Given the description of an element on the screen output the (x, y) to click on. 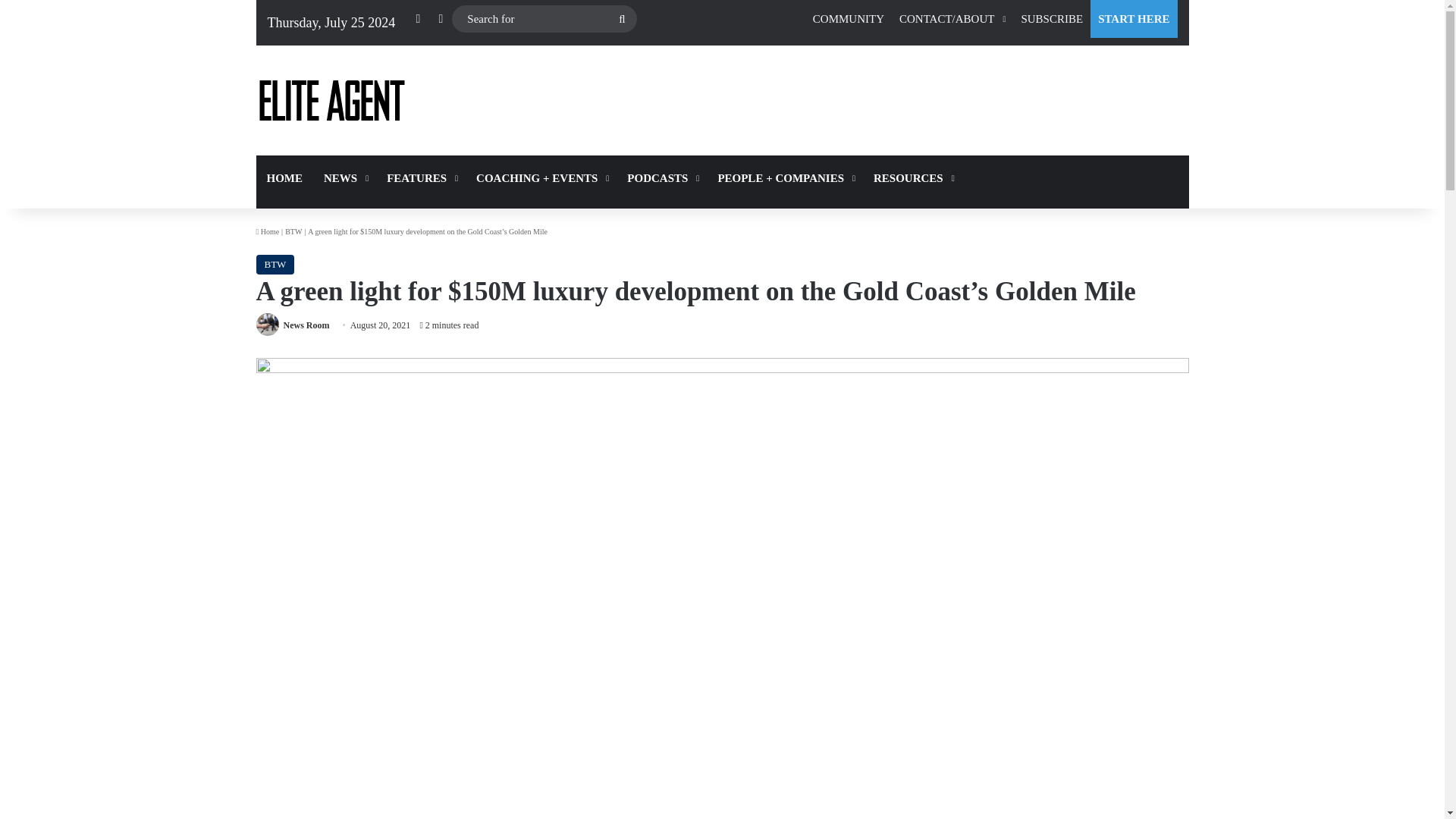
NEWS (344, 177)
News Room (306, 325)
FEATURES (420, 177)
Elite Agent (331, 100)
START HERE (1133, 18)
COMMUNITY (848, 18)
SUBSCRIBE (1051, 18)
HOME (285, 177)
Search for (544, 18)
